Given the description of an element on the screen output the (x, y) to click on. 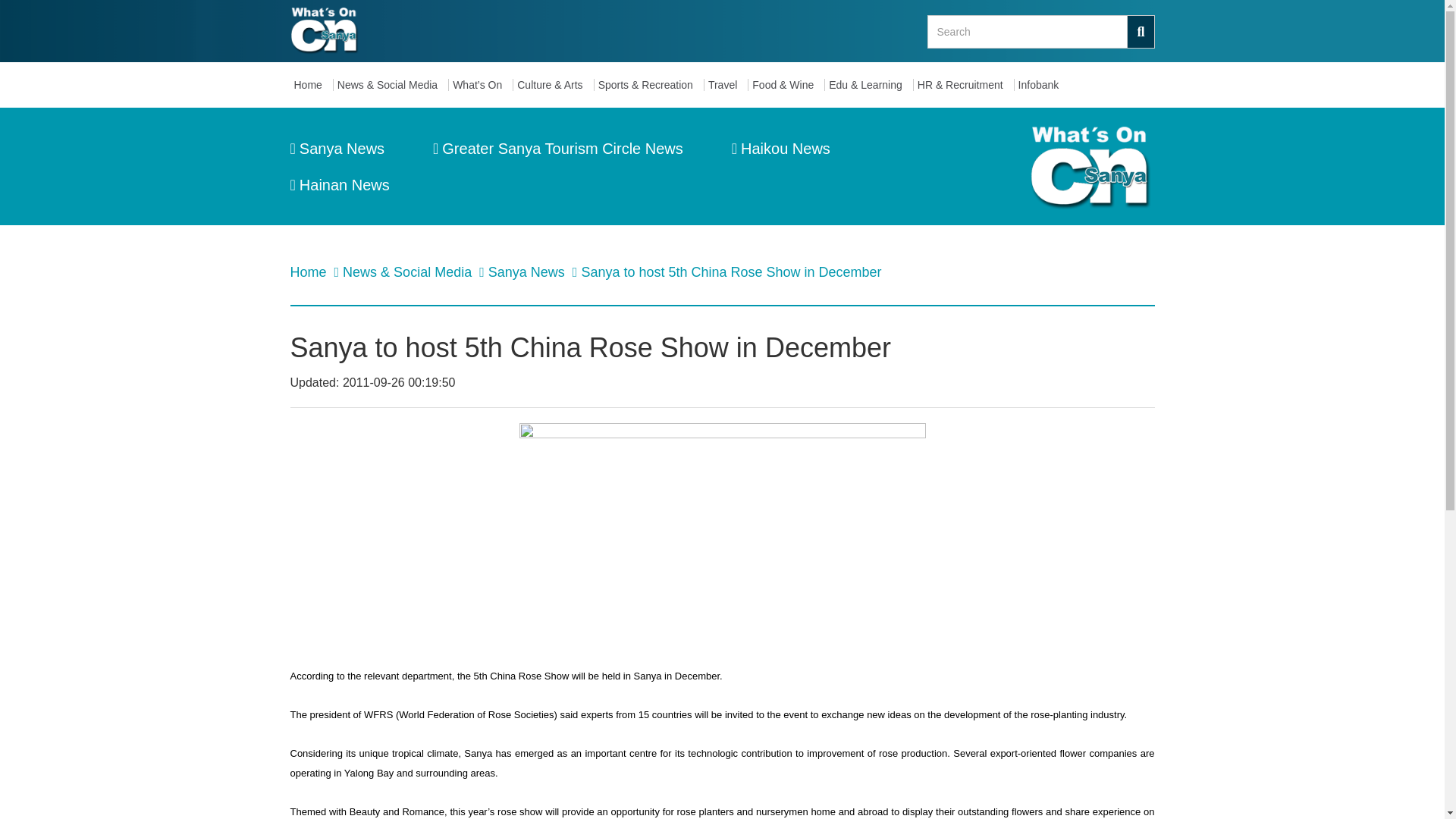
Home (309, 272)
Haikou News (780, 148)
Sanya News (528, 272)
Travel (726, 84)
Infobank (1042, 84)
Greater Sanya Tourism Circle News (557, 148)
Home (311, 84)
Hainan News (338, 184)
Sanya News (336, 148)
